Given the description of an element on the screen output the (x, y) to click on. 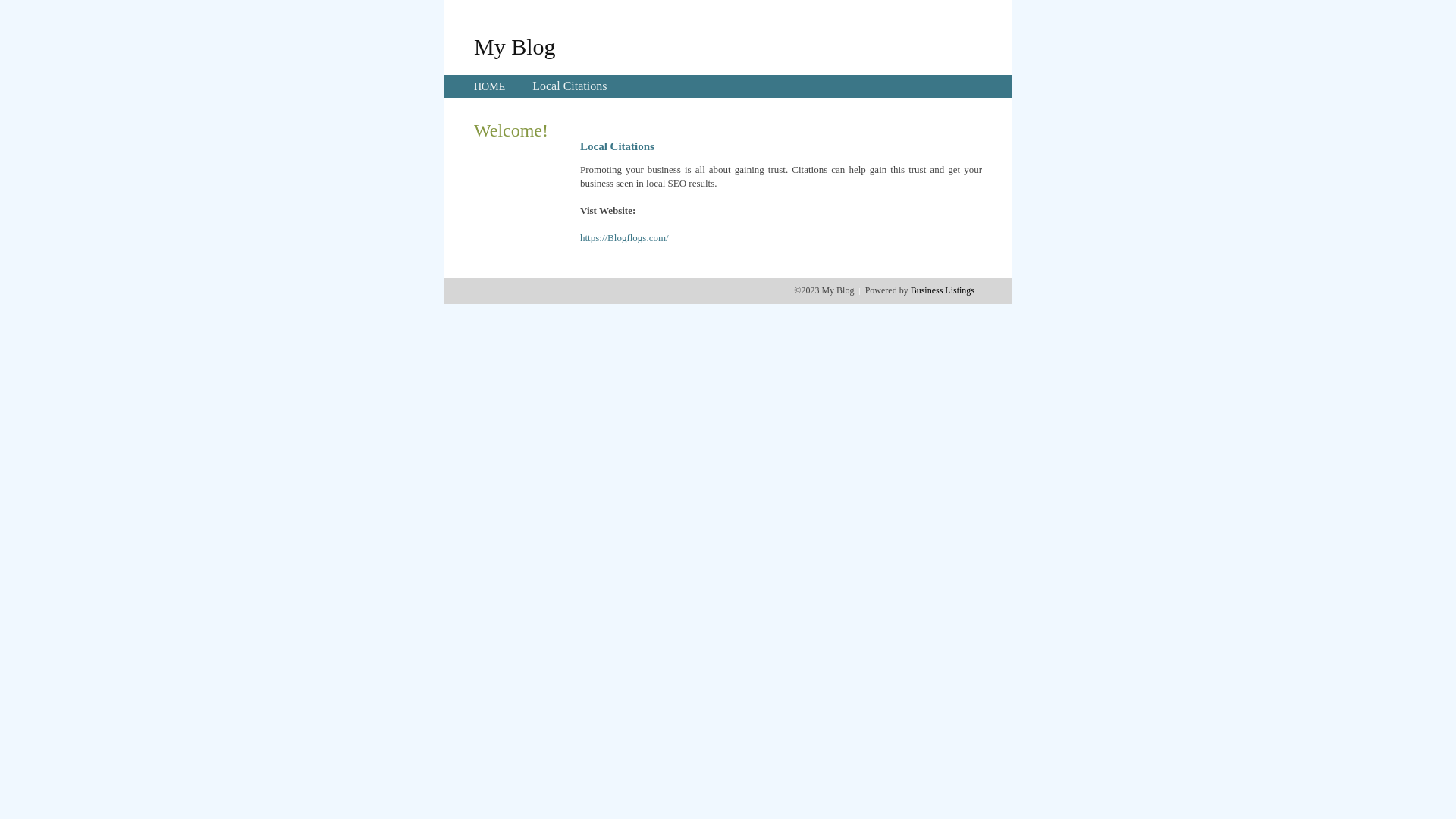
Business Listings Element type: text (942, 290)
HOME Element type: text (489, 86)
Local Citations Element type: text (569, 85)
My Blog Element type: text (514, 46)
https://Blogflogs.com/ Element type: text (624, 237)
